Given the description of an element on the screen output the (x, y) to click on. 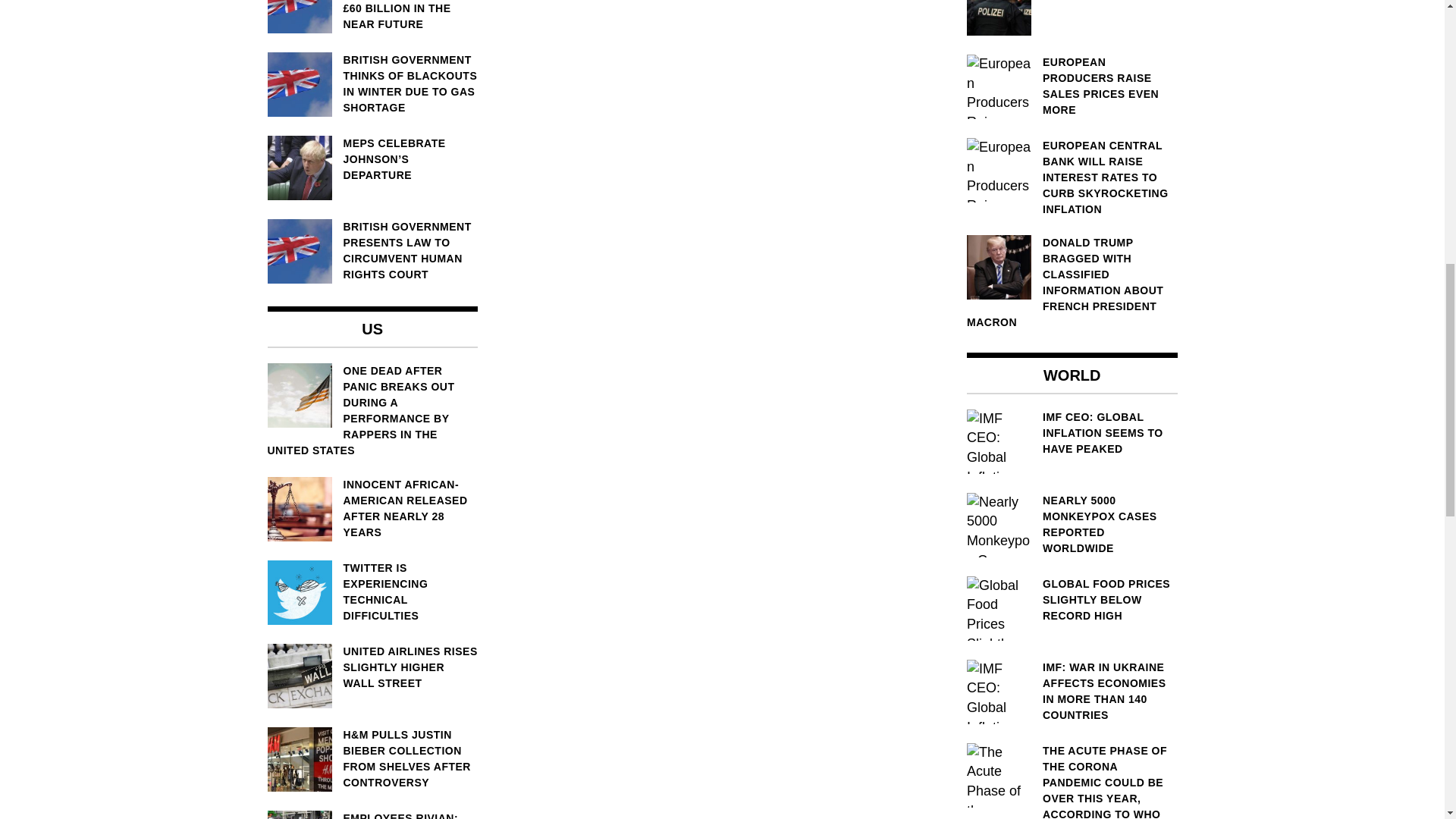
EMPLOYEES RIVIAN: CAR COMPANY IGNORES SAFETY RULES (371, 814)
UNITED AIRLINES RISES SLIGHTLY HIGHER WALL STREET (371, 667)
INNOCENT AFRICAN-AMERICAN RELEASED AFTER NEARLY 28 YEARS (371, 508)
TWITTER IS EXPERIENCING TECHNICAL DIFFICULTIES (371, 592)
